Given the description of an element on the screen output the (x, y) to click on. 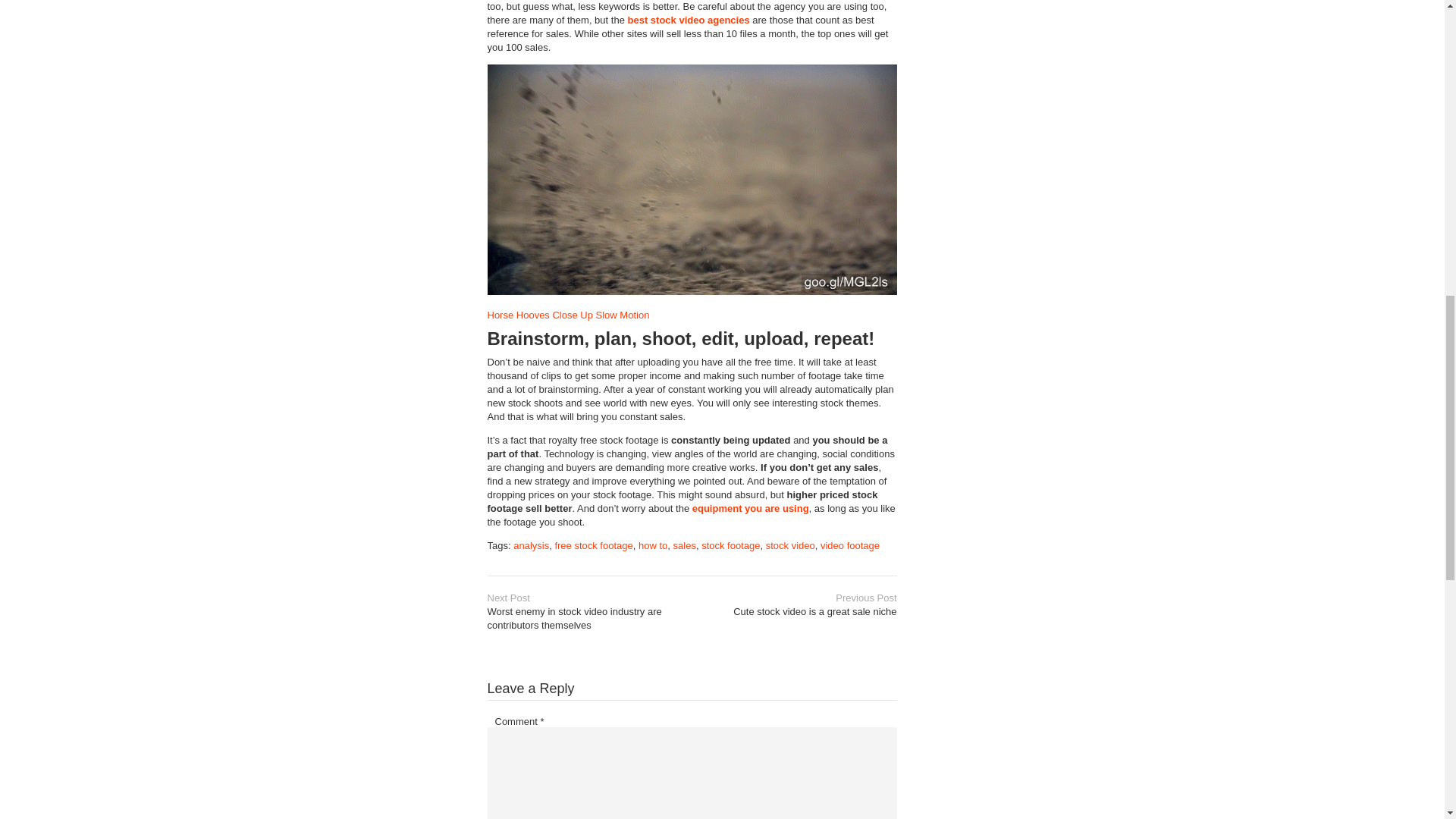
free stock footage (592, 545)
best stock video agencies (797, 605)
stock footage (688, 19)
Horse Hooves Close Up Slow Motion (730, 545)
video footage (567, 315)
stock video (850, 545)
sales (790, 545)
how to (683, 545)
analysis (652, 545)
equipment you are using (530, 545)
